Given the description of an element on the screen output the (x, y) to click on. 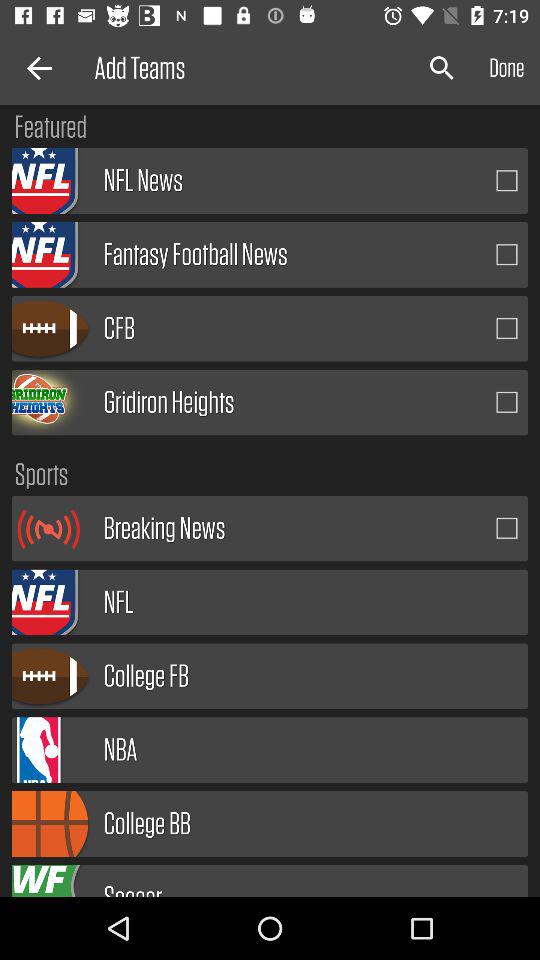
toggle fantasy football news option (507, 254)
